Given the description of an element on the screen output the (x, y) to click on. 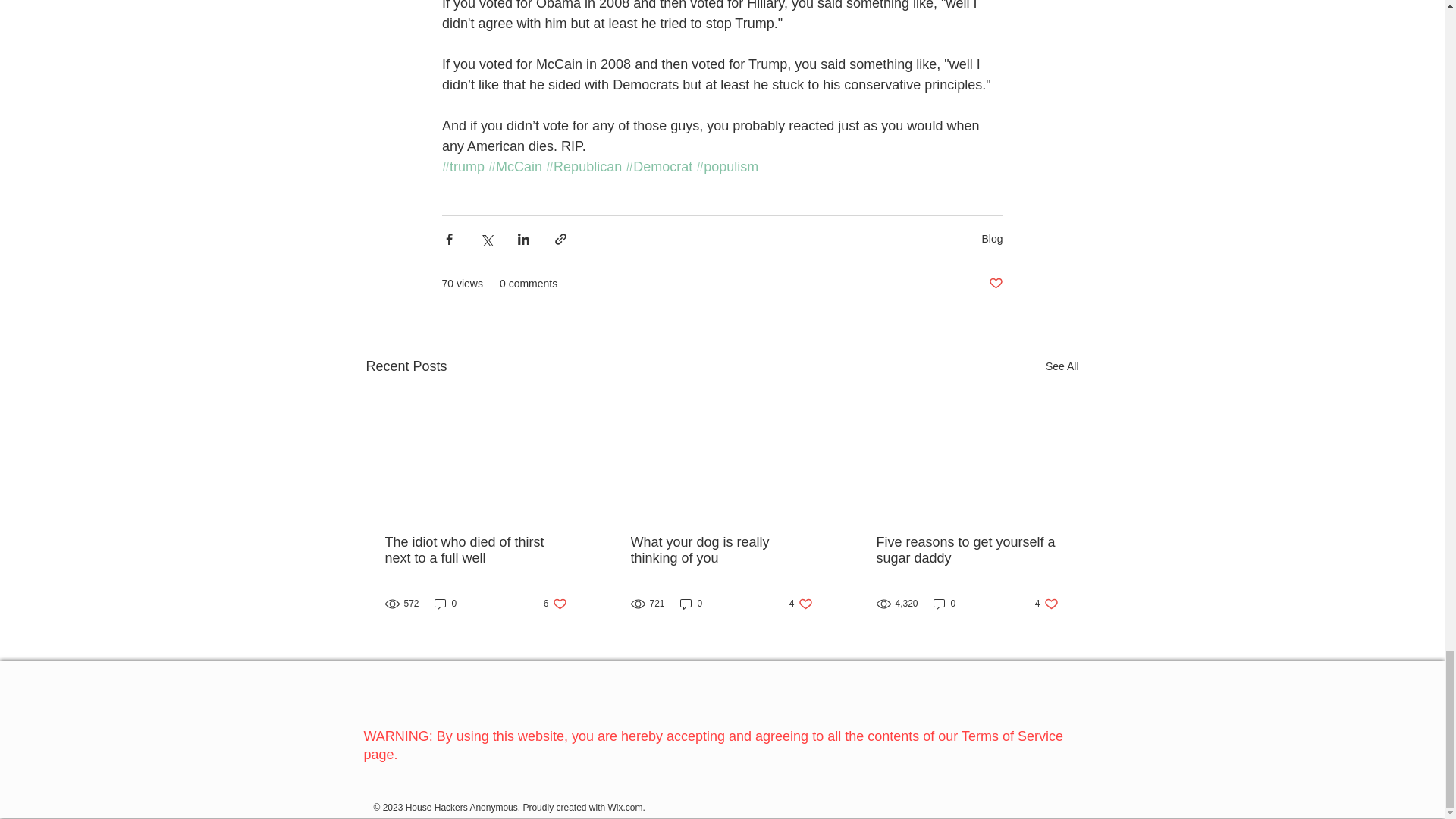
Post not marked as liked (995, 283)
Blog (992, 238)
0 (555, 603)
What your dog is really thinking of you (445, 603)
0 (721, 550)
See All (691, 603)
The idiot who died of thirst next to a full well (1061, 366)
